Given the description of an element on the screen output the (x, y) to click on. 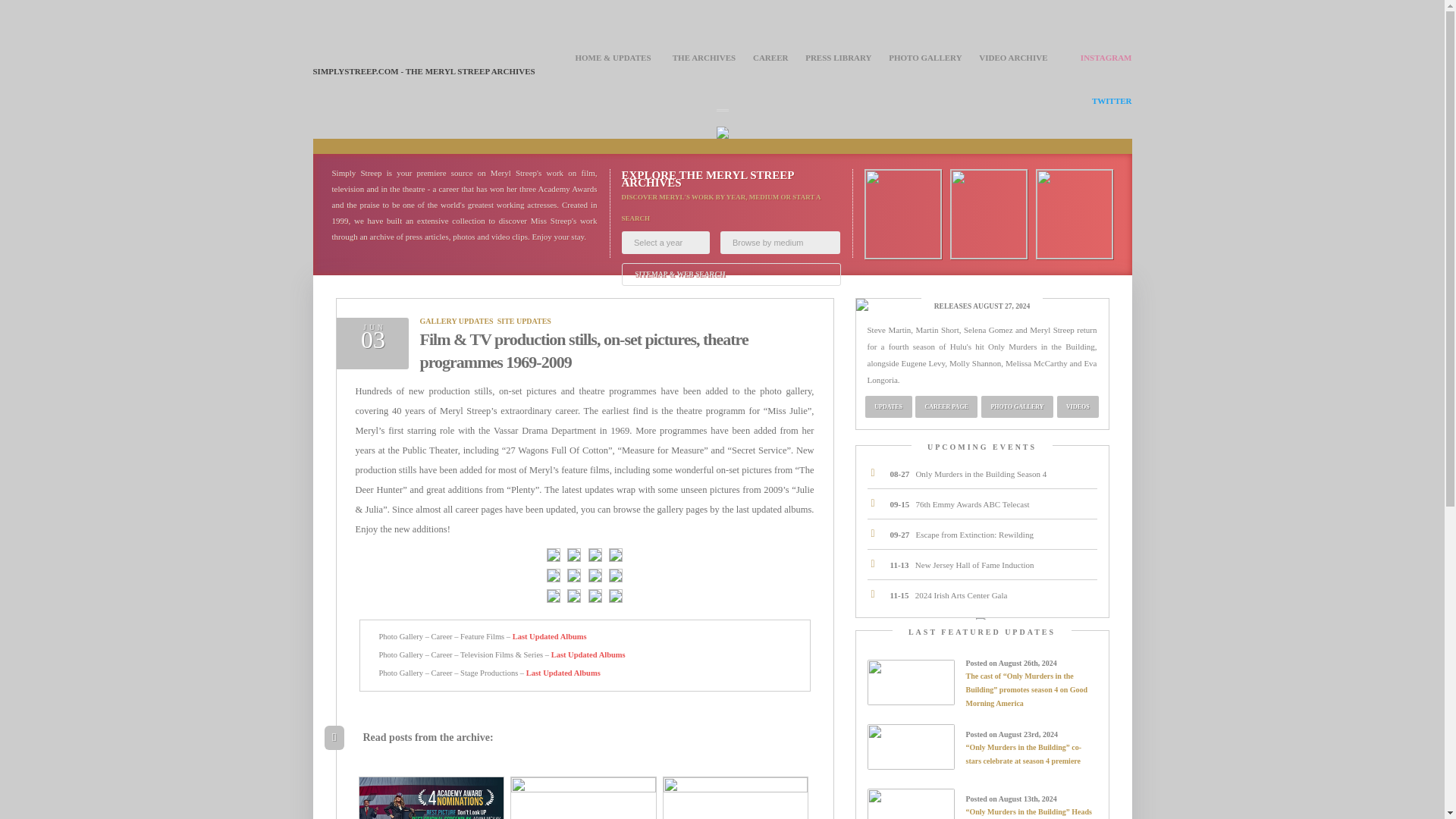
PHOTO GALLERY (924, 57)
SITE UPDATES (524, 320)
Last Updated Albums (562, 673)
INSTAGRAM (1106, 57)
Last Updated Albums (588, 654)
VIDEO ARCHIVE (1012, 57)
Last Updated Albums (549, 636)
UPDATES (888, 406)
GALLERY UPDATES (456, 320)
TWITTER (1112, 100)
